Given the description of an element on the screen output the (x, y) to click on. 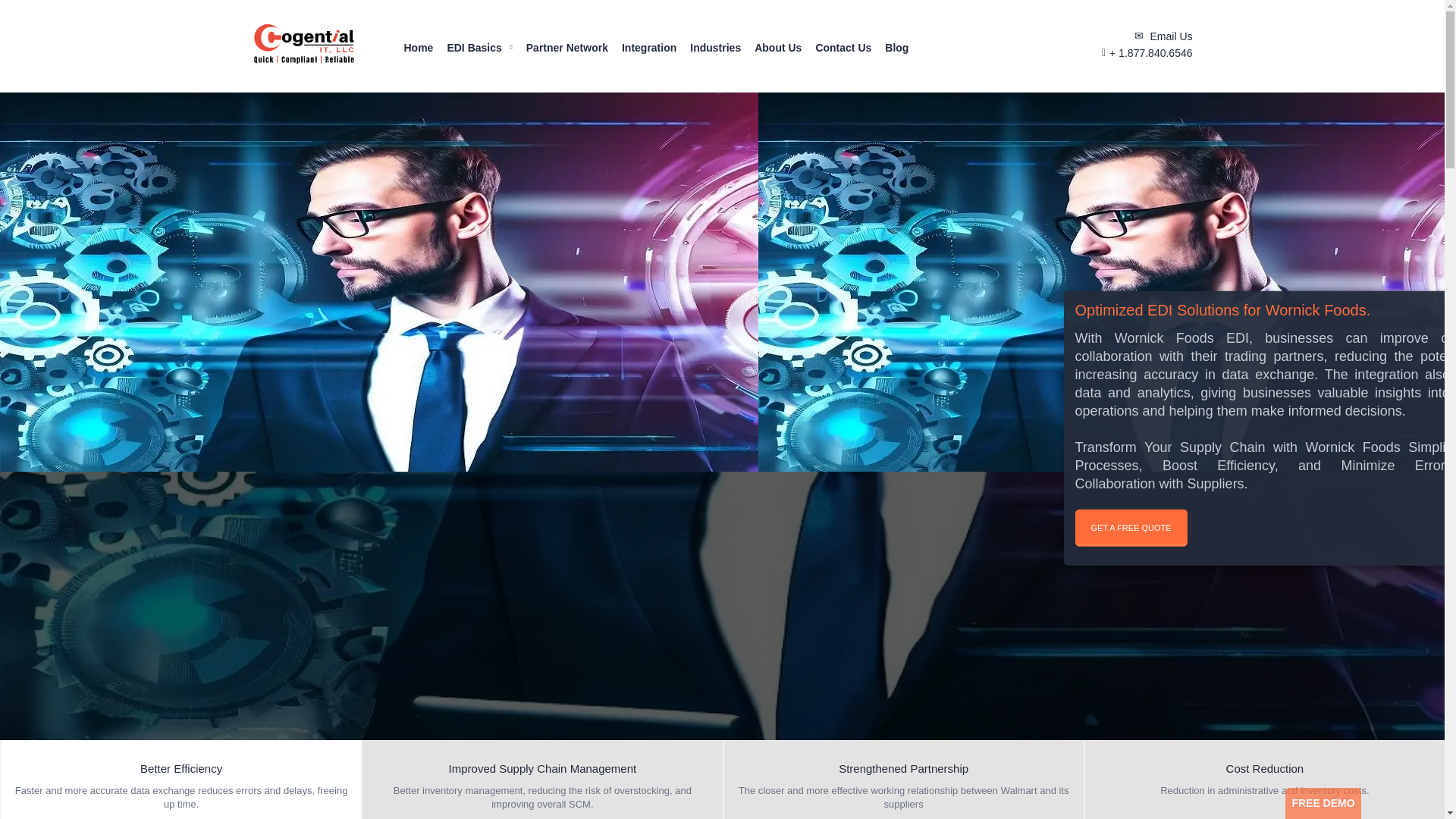
Partner Network (566, 52)
Integration (649, 52)
About Us (778, 52)
EDI Services (303, 46)
Contact Us (842, 52)
EDI Basics (473, 52)
Industries (715, 52)
Home (417, 52)
Blog (896, 52)
